Given the description of an element on the screen output the (x, y) to click on. 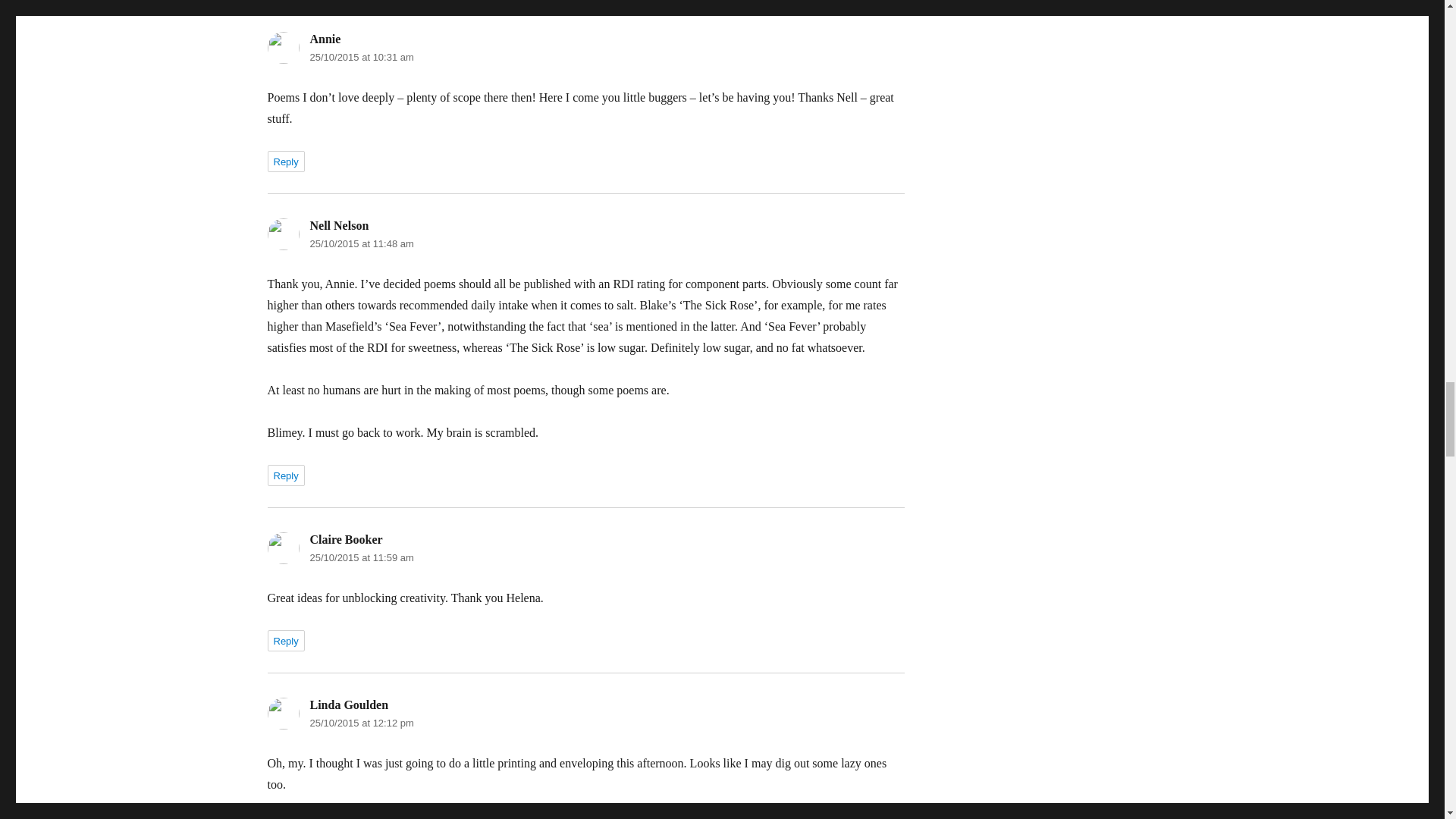
Reply (285, 160)
Reply (285, 817)
Reply (285, 475)
Reply (285, 640)
